Given the description of an element on the screen output the (x, y) to click on. 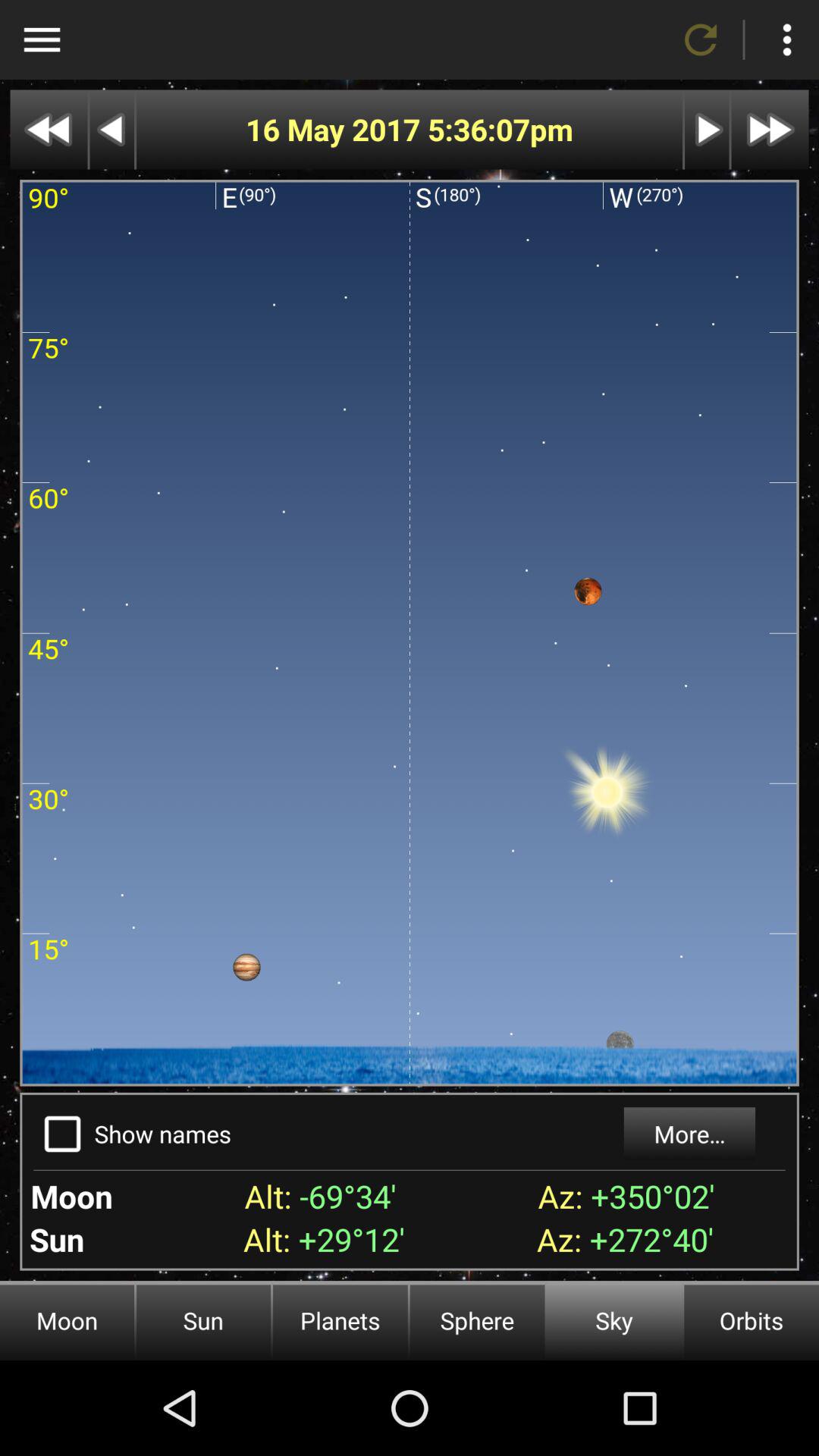
next (769, 129)
